Given the description of an element on the screen output the (x, y) to click on. 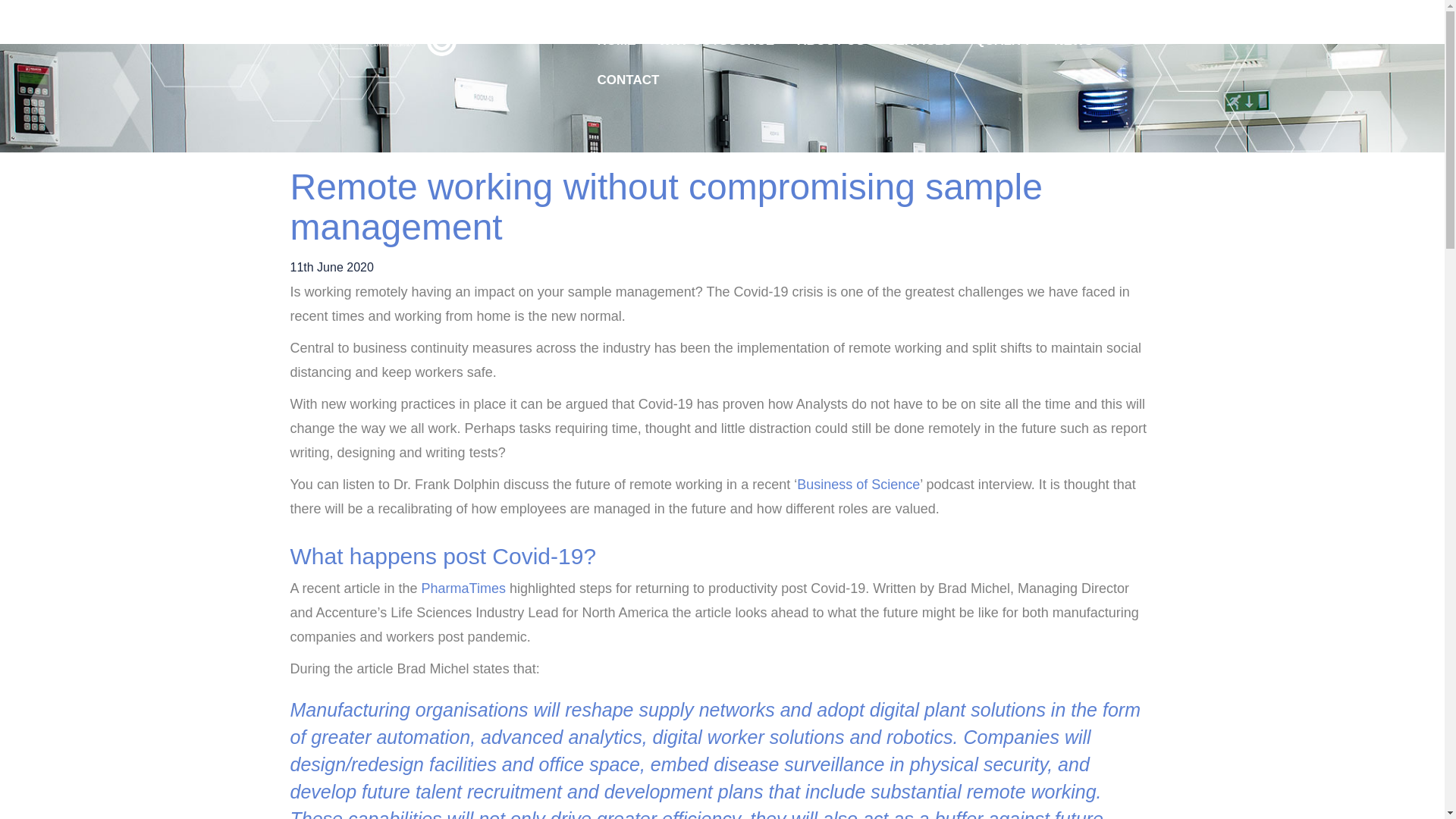
QUALITY (1003, 47)
CONTACT (627, 87)
HOME (615, 47)
PharmaTimes (463, 588)
WHY OUTSOURCE (716, 47)
SERVICES (919, 47)
Book Now (973, 11)
NEWS (1072, 47)
Cambrex.com (1038, 11)
ABOUT US (831, 47)
